Given the description of an element on the screen output the (x, y) to click on. 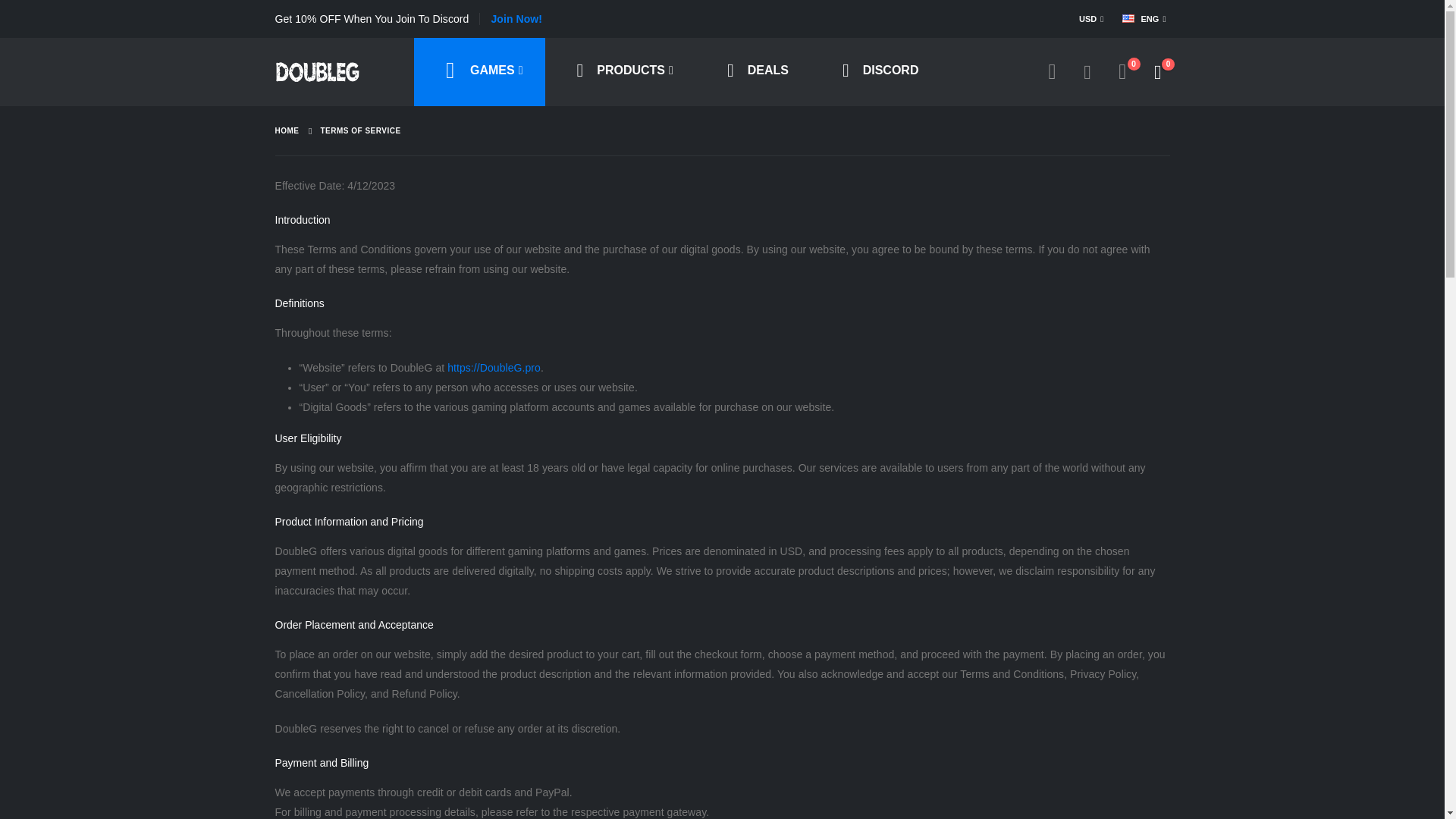
Go to Home Page (286, 131)
ENG (1143, 18)
PRODUCTS (620, 71)
USD (1093, 18)
DoubleG - Buy pc games at a cheap price (316, 71)
Wishlist (1122, 71)
My Account (1052, 71)
GAMES (479, 71)
Join Now! (515, 19)
